Given the description of an element on the screen output the (x, y) to click on. 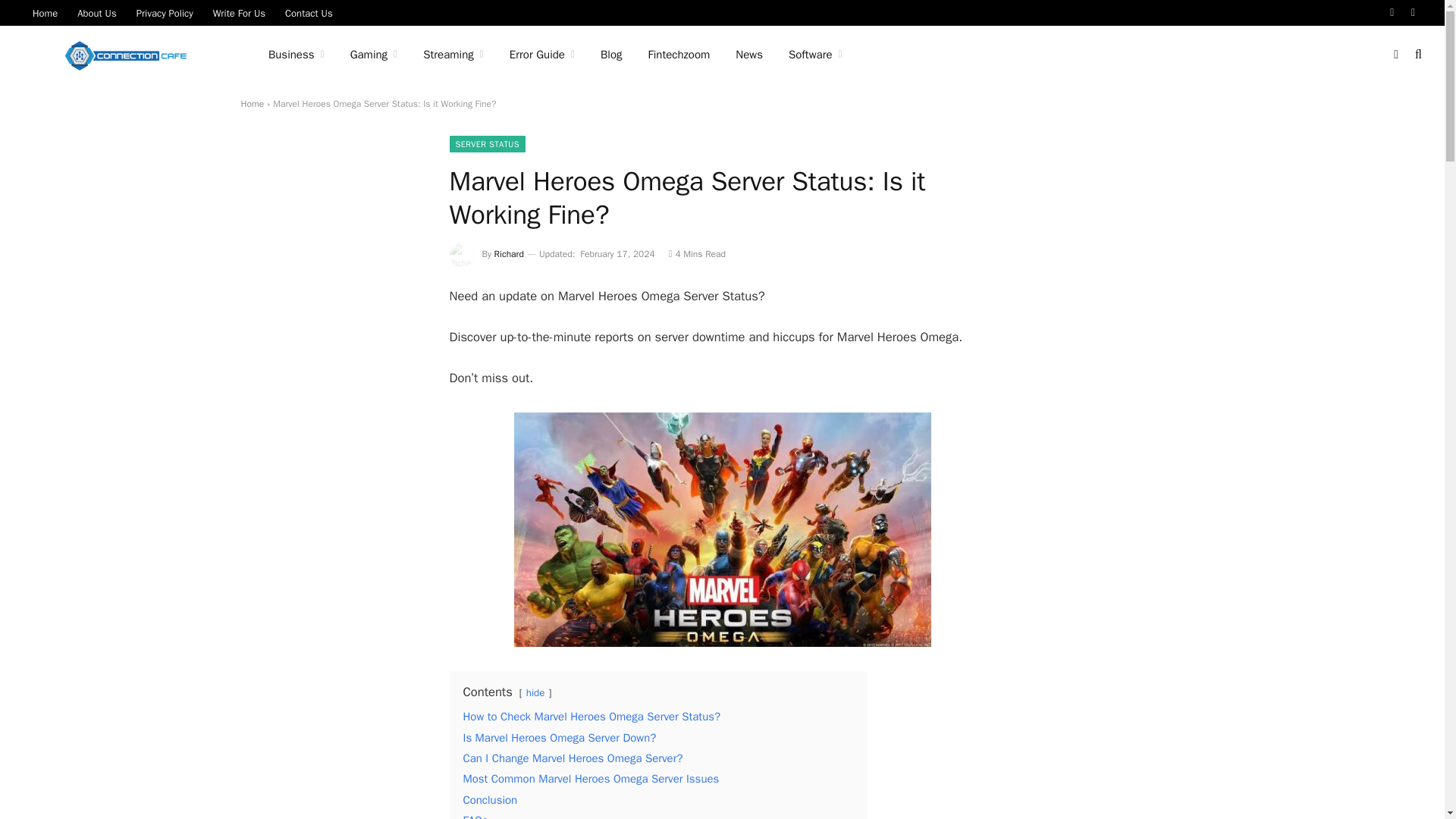
Gaming (373, 54)
Write For Us (239, 12)
Switch to Dark Design - easier on eyes. (1396, 54)
Software (816, 54)
Error Guide (542, 54)
Contact Us (308, 12)
Posts by Richard (509, 254)
Home (252, 103)
Streaming (453, 54)
Business (296, 54)
